Given the description of an element on the screen output the (x, y) to click on. 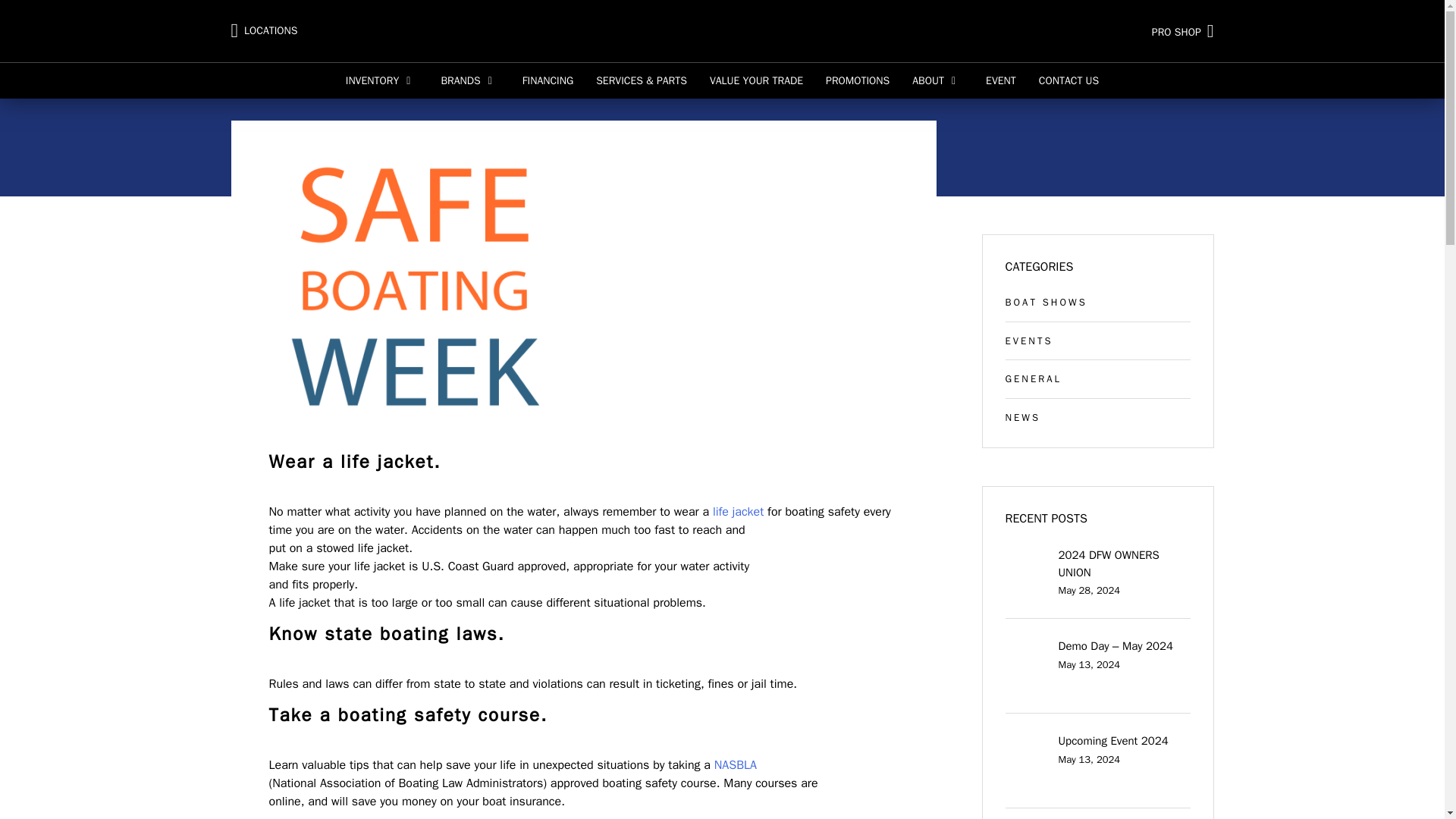
LOCATIONS (263, 30)
FINANCING (548, 80)
BRANDS (470, 80)
VALUE YOUR TRADE (755, 80)
PRO SHOP (1051, 31)
INVENTORY (381, 80)
